Given the description of an element on the screen output the (x, y) to click on. 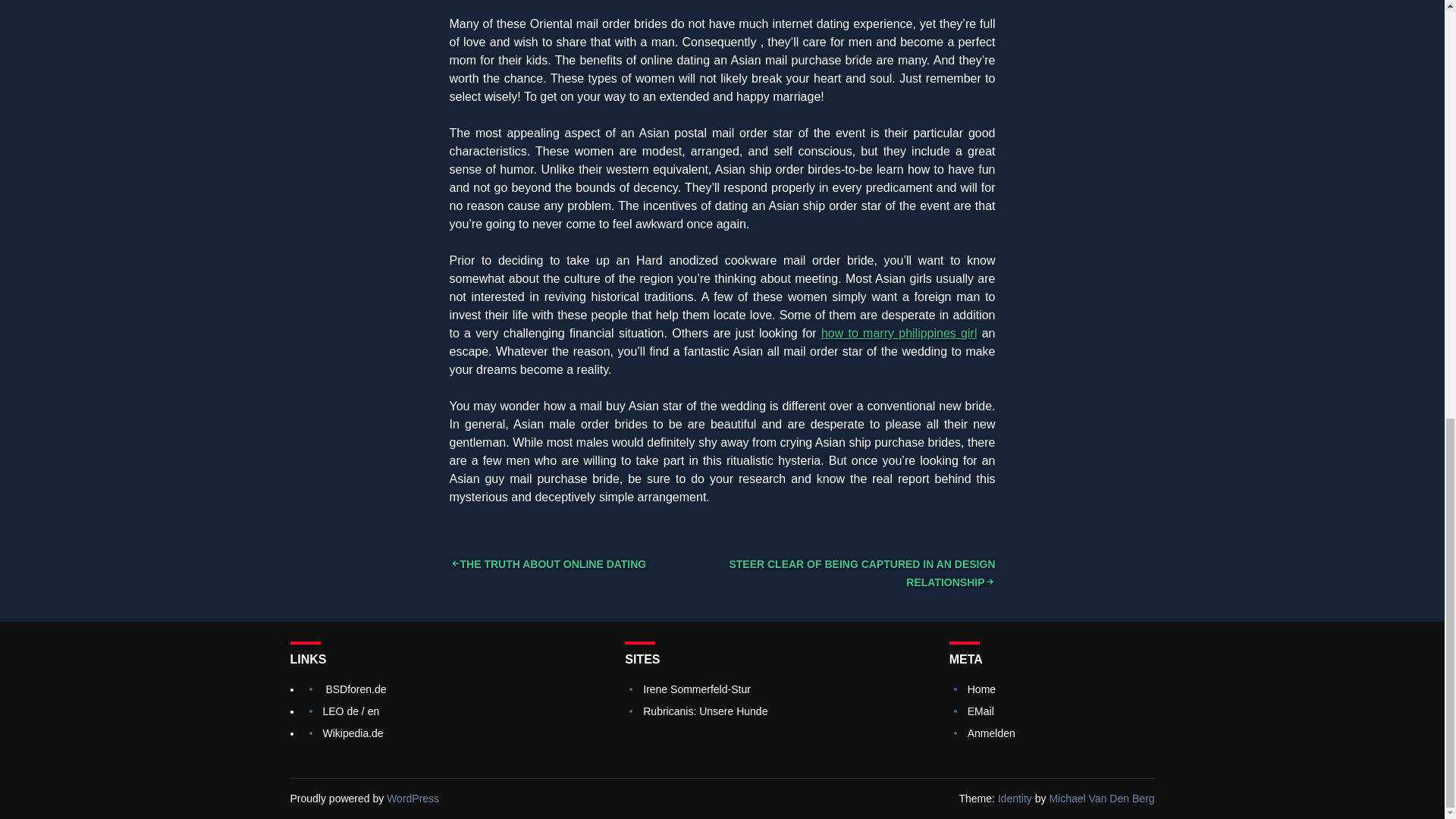
how to marry philippines girl (898, 332)
Wikipedia.de (353, 733)
THE TRUTH ABOUT ONLINE DATING (547, 563)
WordPress (413, 798)
STEER CLEAR OF BEING CAPTURED IN AN DESIGN RELATIONSHIP (861, 572)
Michael Van Den Berg (1101, 798)
EMail (981, 711)
Anmelden (991, 733)
Irene Sommerfeld-Stur (697, 689)
BSDforen.de (354, 689)
Rubricanis: Unsere Hunde (705, 711)
Identity (1014, 798)
Home (981, 689)
